Given the description of an element on the screen output the (x, y) to click on. 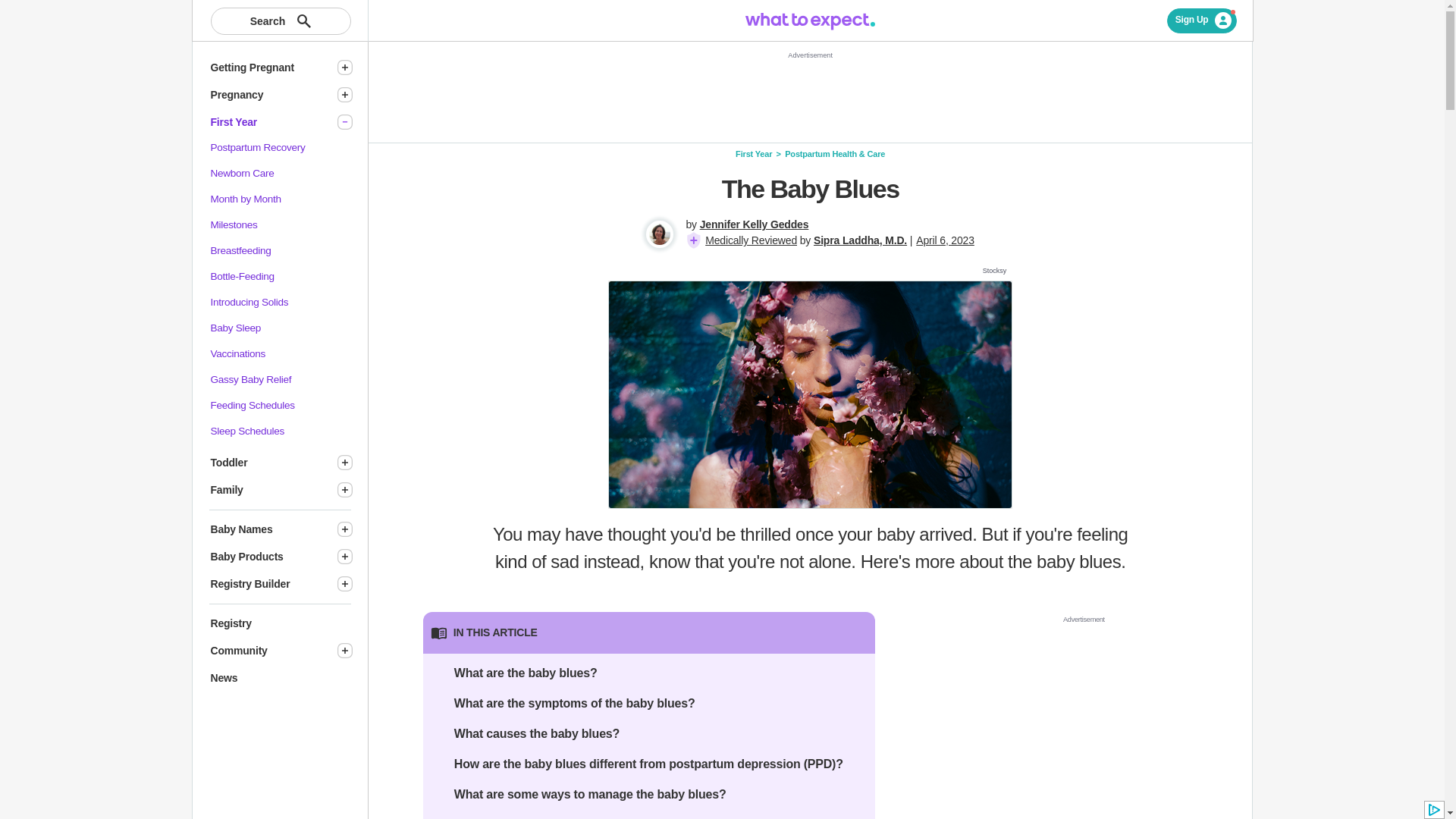
Postpartum Recovery (258, 147)
First Year (267, 122)
Sign Up (1202, 20)
Pregnancy (267, 94)
Newborn Care (243, 173)
Getting Pregnant (267, 67)
Search (280, 21)
